Given the description of an element on the screen output the (x, y) to click on. 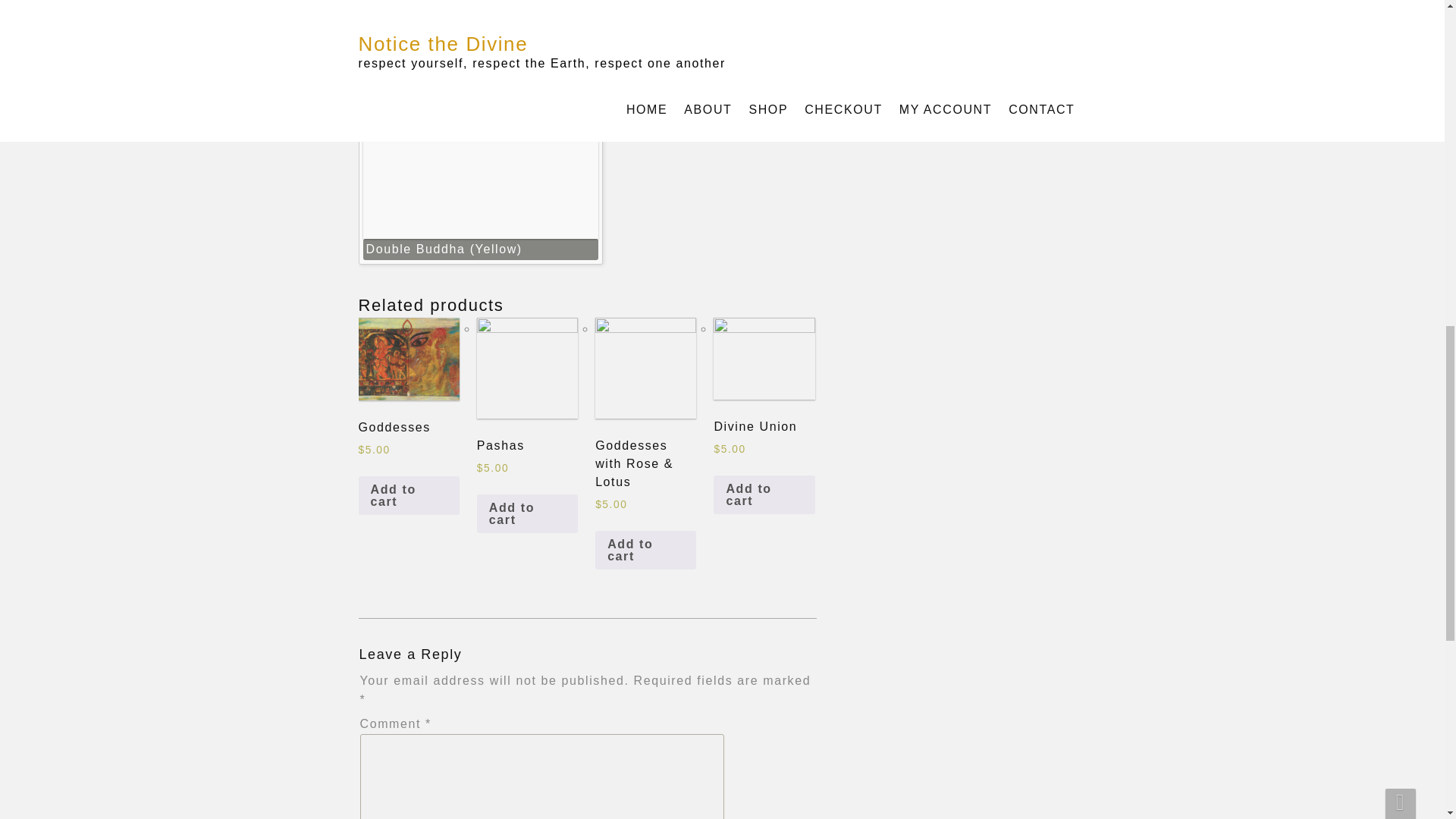
Add to cart (763, 495)
Add to cart (645, 550)
Add to cart (527, 513)
Add to cart (408, 495)
